Given the description of an element on the screen output the (x, y) to click on. 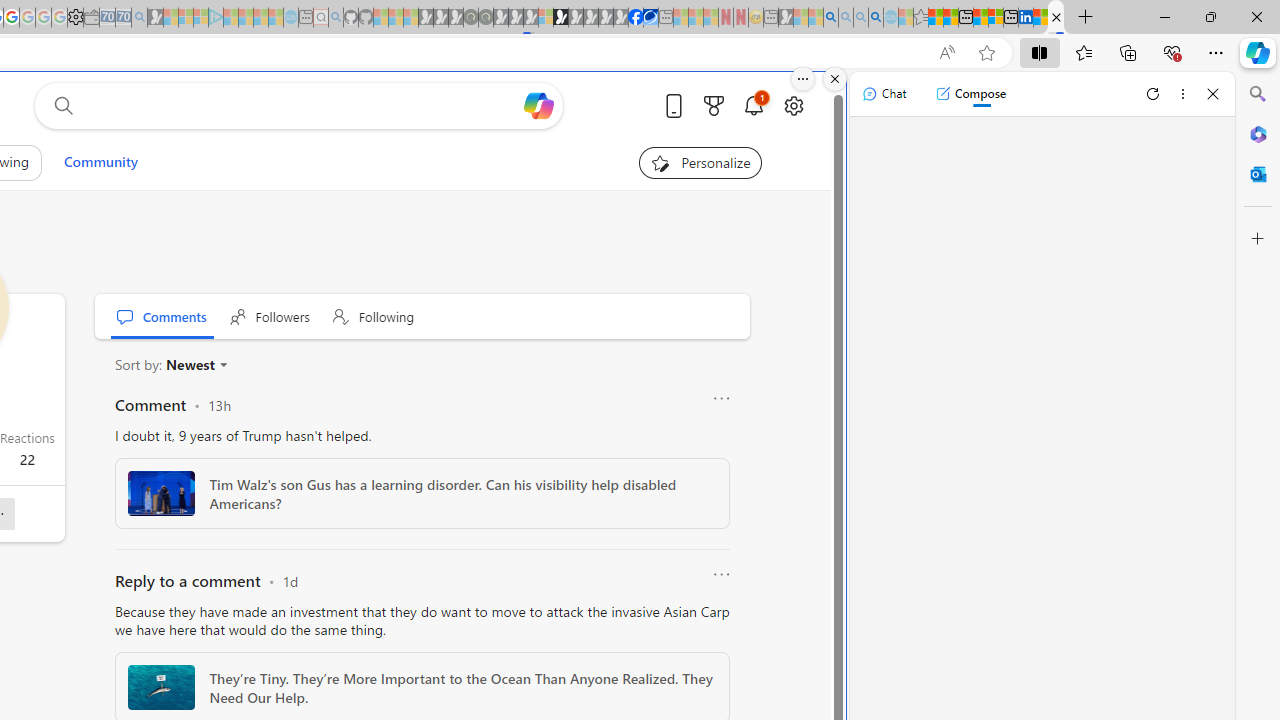
More options. (803, 79)
Google Chrome Internet Browser Download - Search Images (876, 17)
AQI & Health | AirNow.gov (650, 17)
 Comments (161, 316)
